Given the description of an element on the screen output the (x, y) to click on. 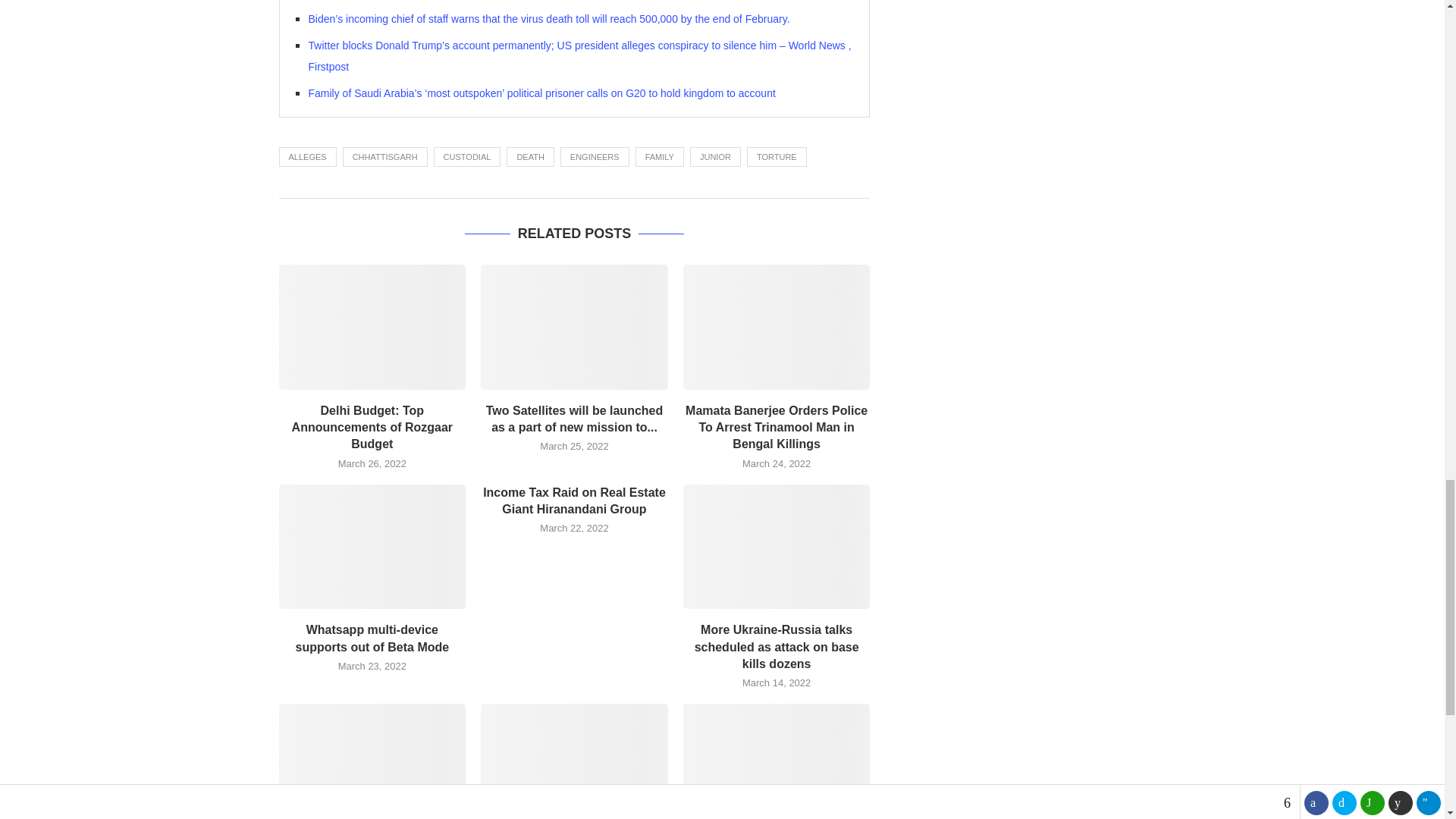
Disco King of Bollywood: Bappi Lahiri dies at the age of 69 (776, 761)
PM Narendra Modi Spoke to President of Ukraine (574, 761)
Uttar Pradesh Election Results 2022 (372, 761)
Delhi Budget: Top Announcements of Rozgaar Budget (372, 326)
Whatsapp multi-device supports out of Beta Mode (372, 546)
